Given the description of an element on the screen output the (x, y) to click on. 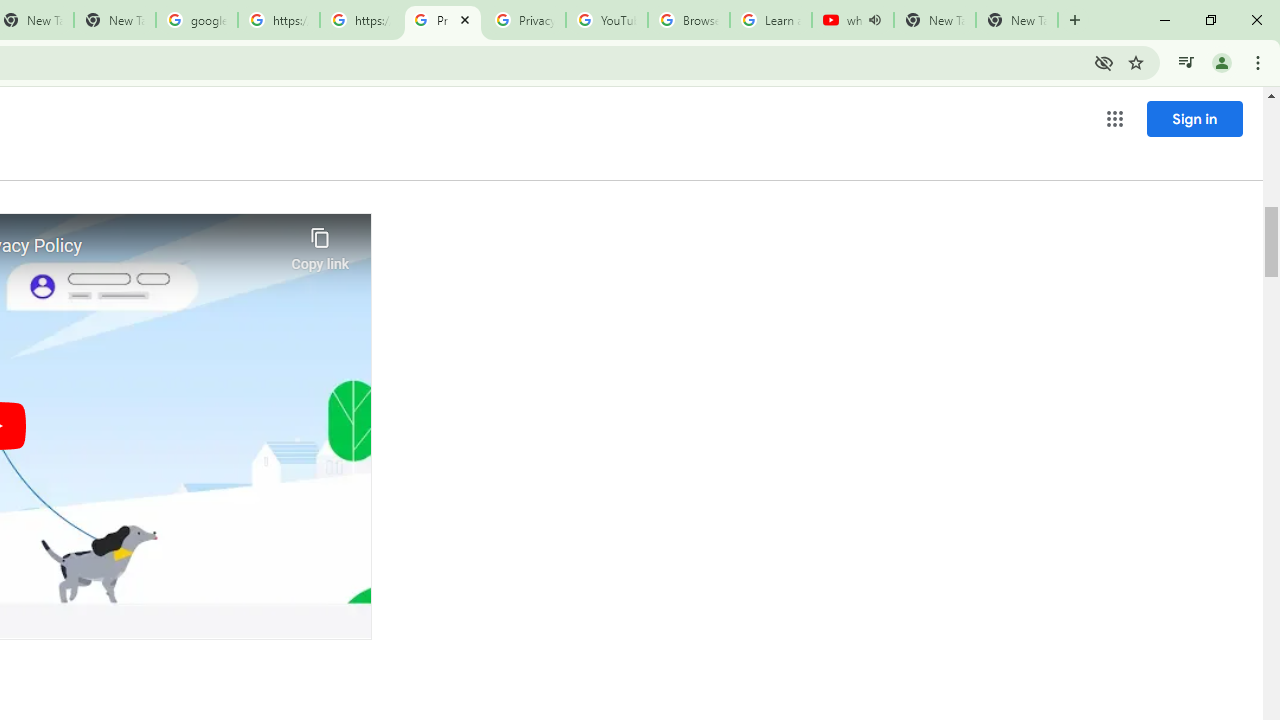
YouTube (606, 20)
Copy link (319, 244)
https://scholar.google.com/ (278, 20)
